Given the description of an element on the screen output the (x, y) to click on. 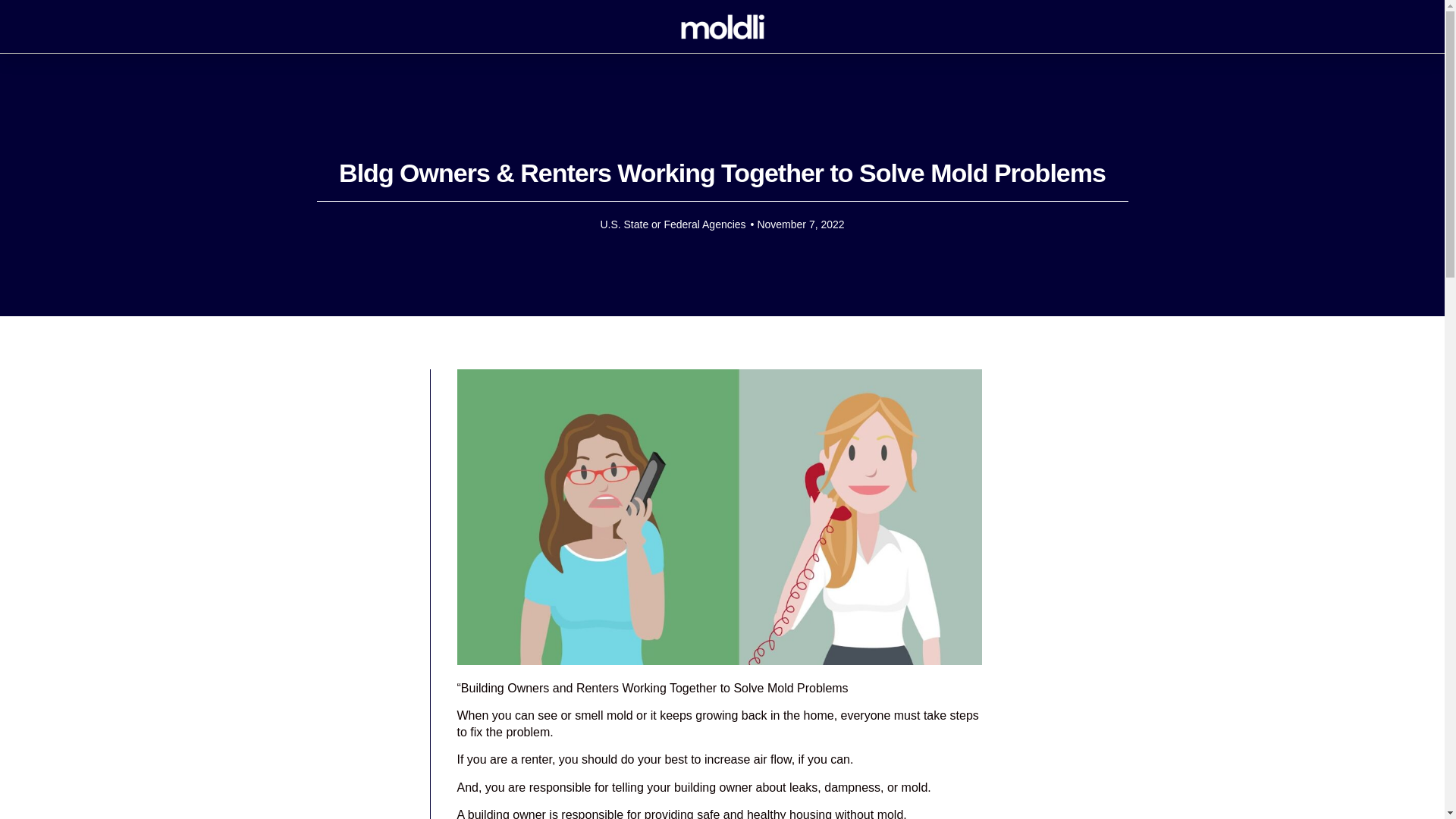
U.S. State or Federal Agencies (672, 224)
Advertisement (365, 597)
